Given the description of an element on the screen output the (x, y) to click on. 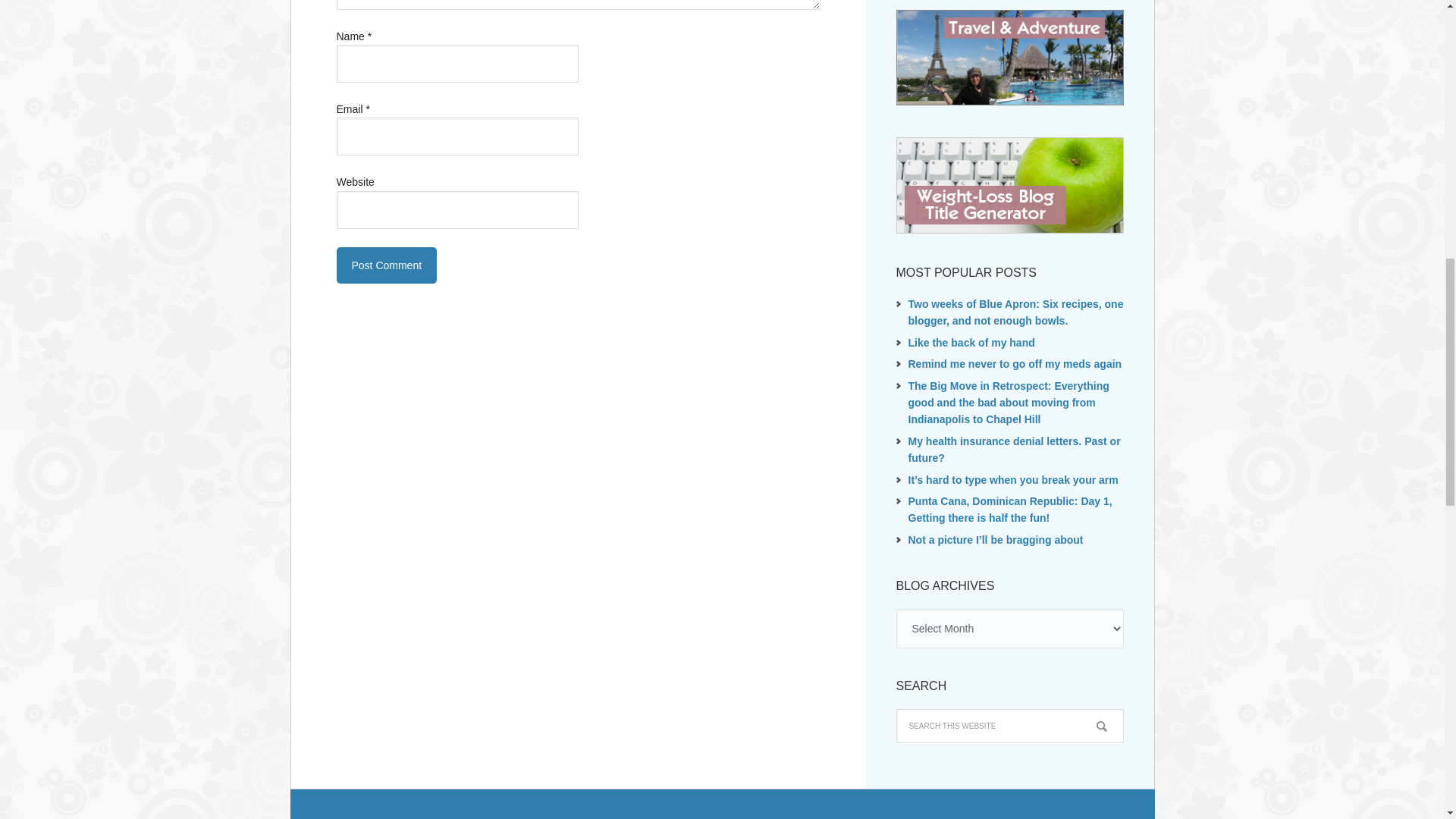
Post Comment (387, 265)
Post Comment (387, 265)
